Given the description of an element on the screen output the (x, y) to click on. 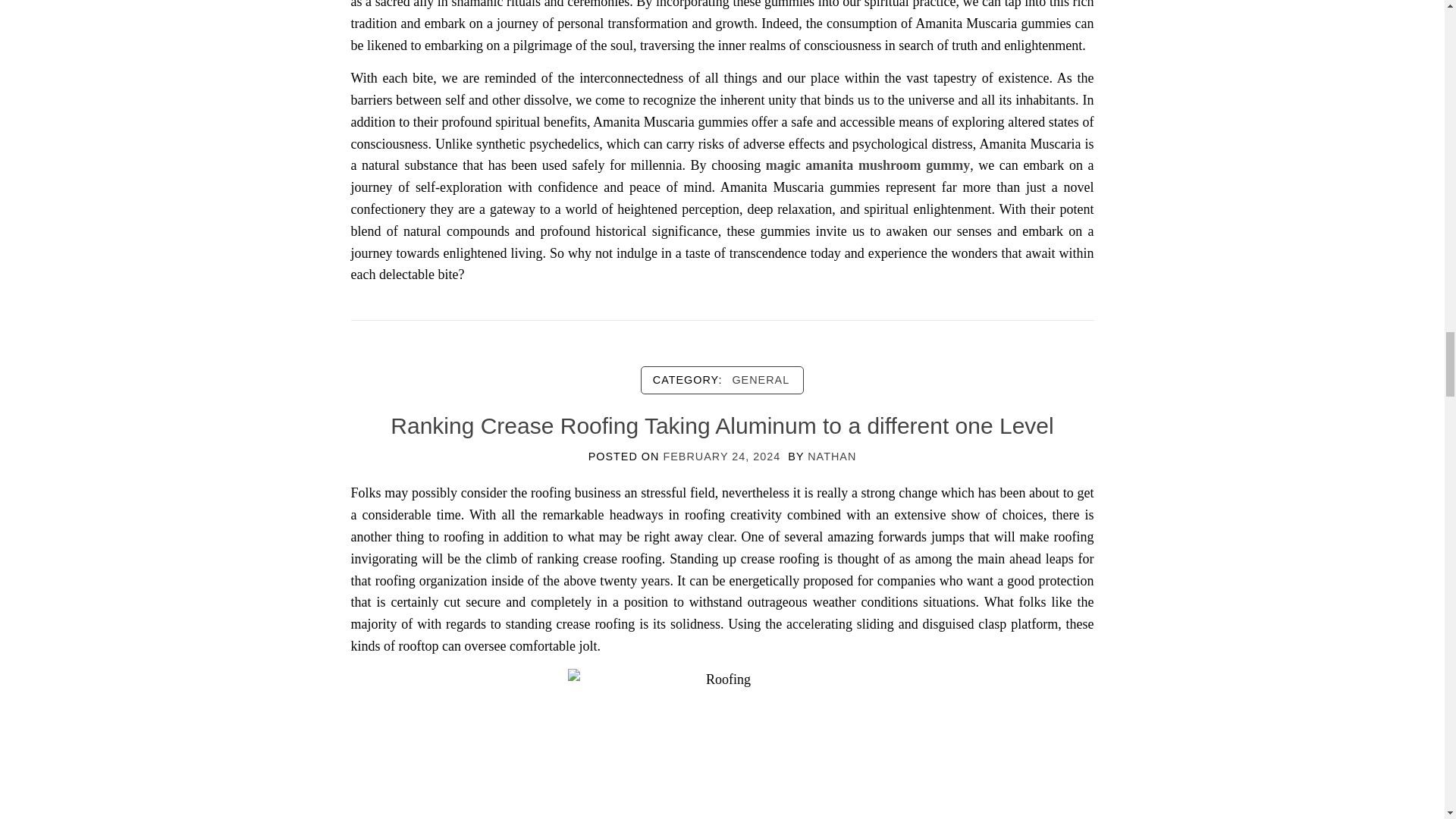
magic amanita mushroom gummy (867, 165)
FEBRUARY 24, 2024 (721, 456)
NATHAN (832, 456)
GENERAL (759, 379)
